Given the description of an element on the screen output the (x, y) to click on. 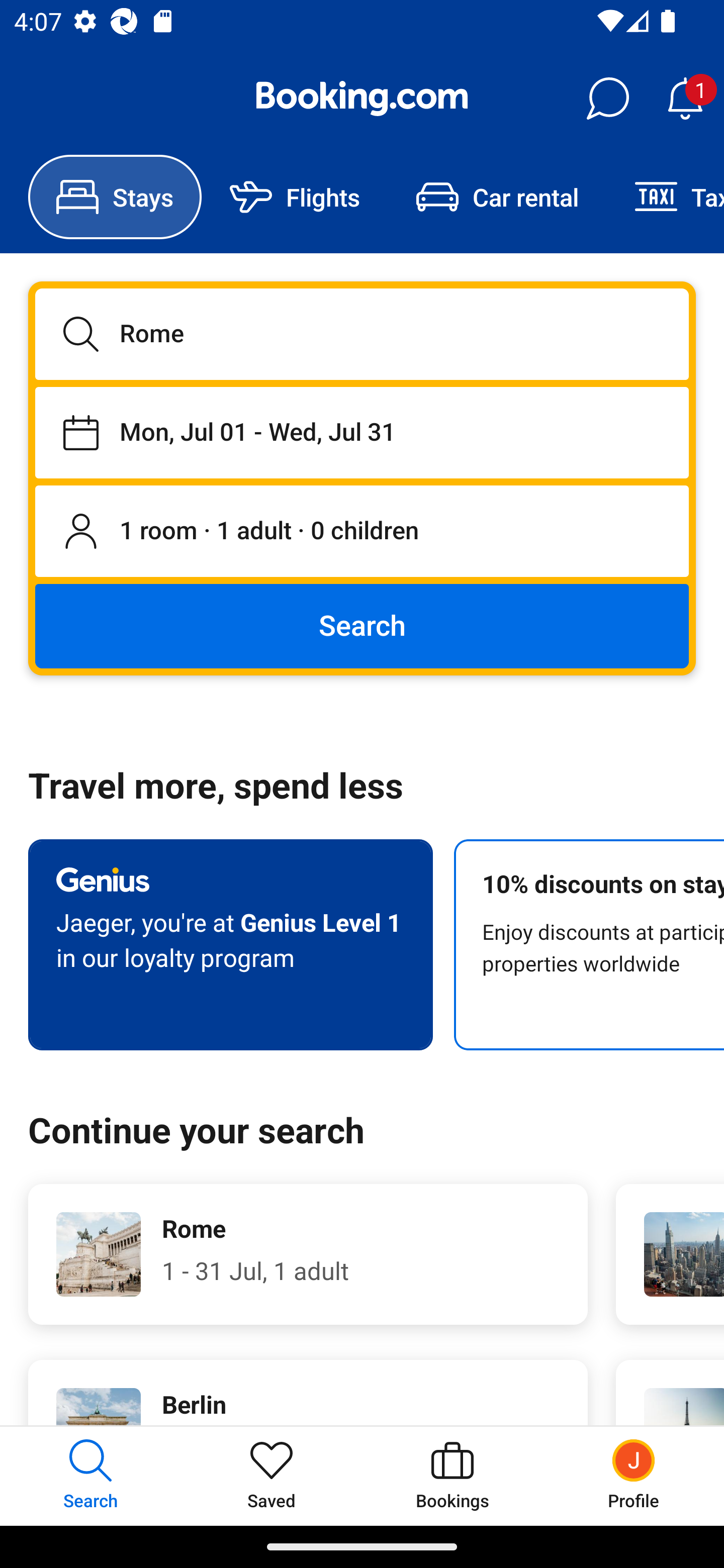
Messages (607, 98)
Notifications (685, 98)
Stays (114, 197)
Flights (294, 197)
Car rental (497, 197)
Taxi (665, 197)
Rome (361, 333)
Staying from Mon, Jul 01 until Wed, Jul 31 (361, 432)
1 room, 1 adult, 0 children (361, 531)
Search (361, 625)
Rome 1 - 31 Jul, 1 adult (307, 1253)
Saved (271, 1475)
Bookings (452, 1475)
Profile (633, 1475)
